Given the description of an element on the screen output the (x, y) to click on. 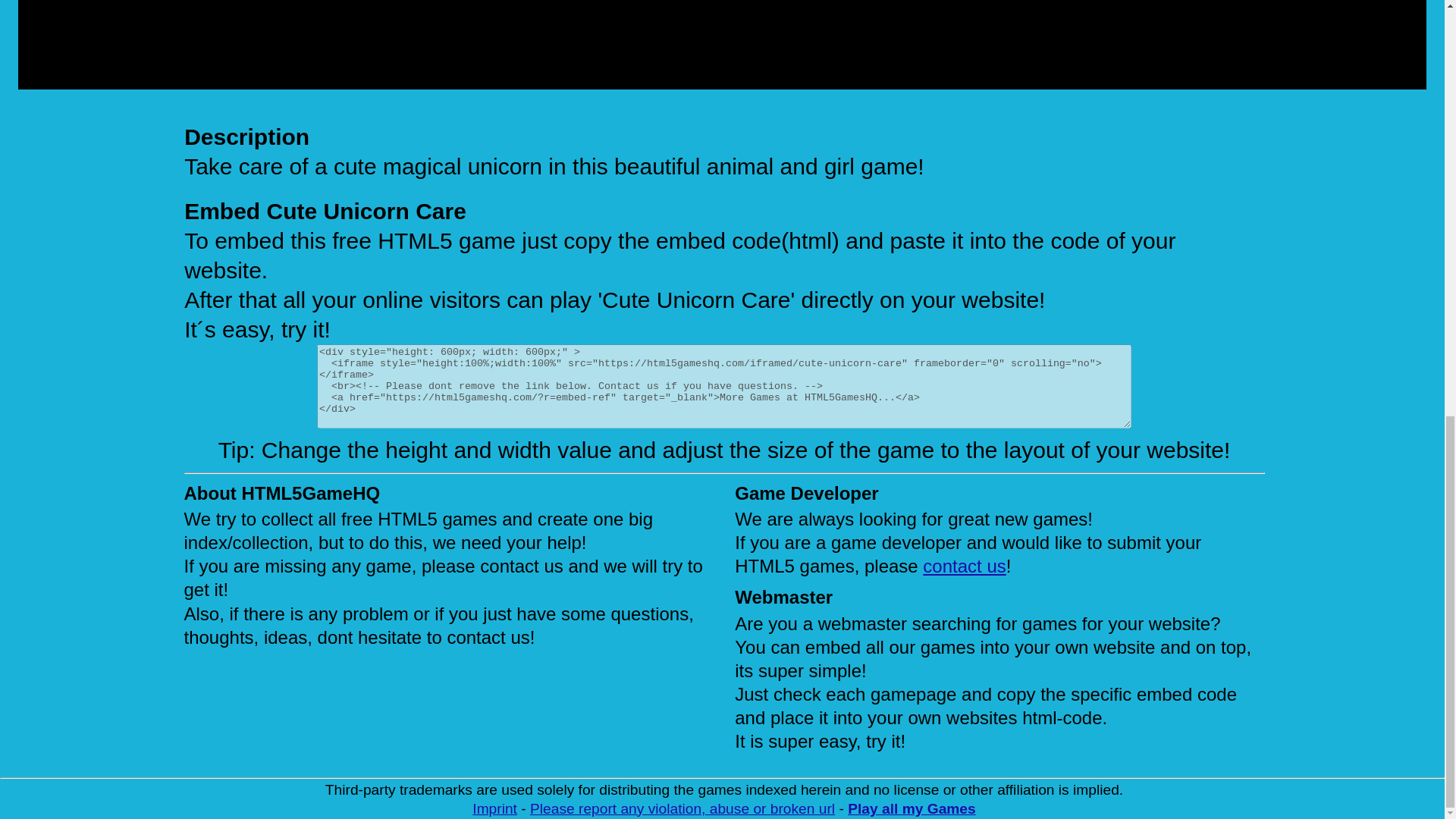
contact us (964, 566)
Please report any violation, abuse or broken url (681, 808)
Play all my Games (911, 808)
Imprint (493, 808)
